Given the description of an element on the screen output the (x, y) to click on. 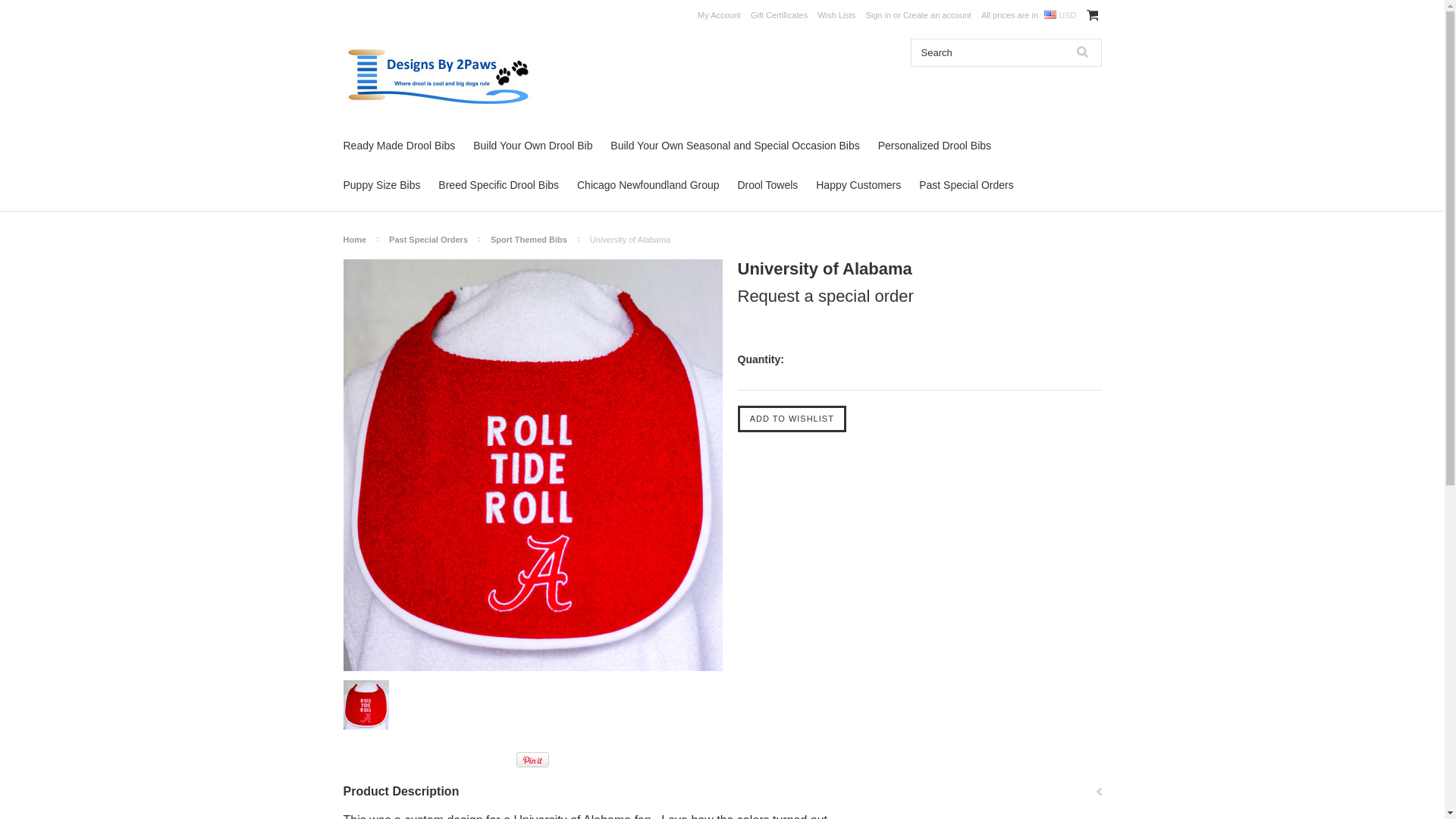
Search (986, 52)
Sign in (877, 14)
Add to Wishlist (790, 418)
Add to Wishlist (790, 418)
Wish Lists (836, 14)
Gift Certificates (779, 14)
My Account (719, 14)
Search (1081, 52)
Create an account (936, 14)
